Given the description of an element on the screen output the (x, y) to click on. 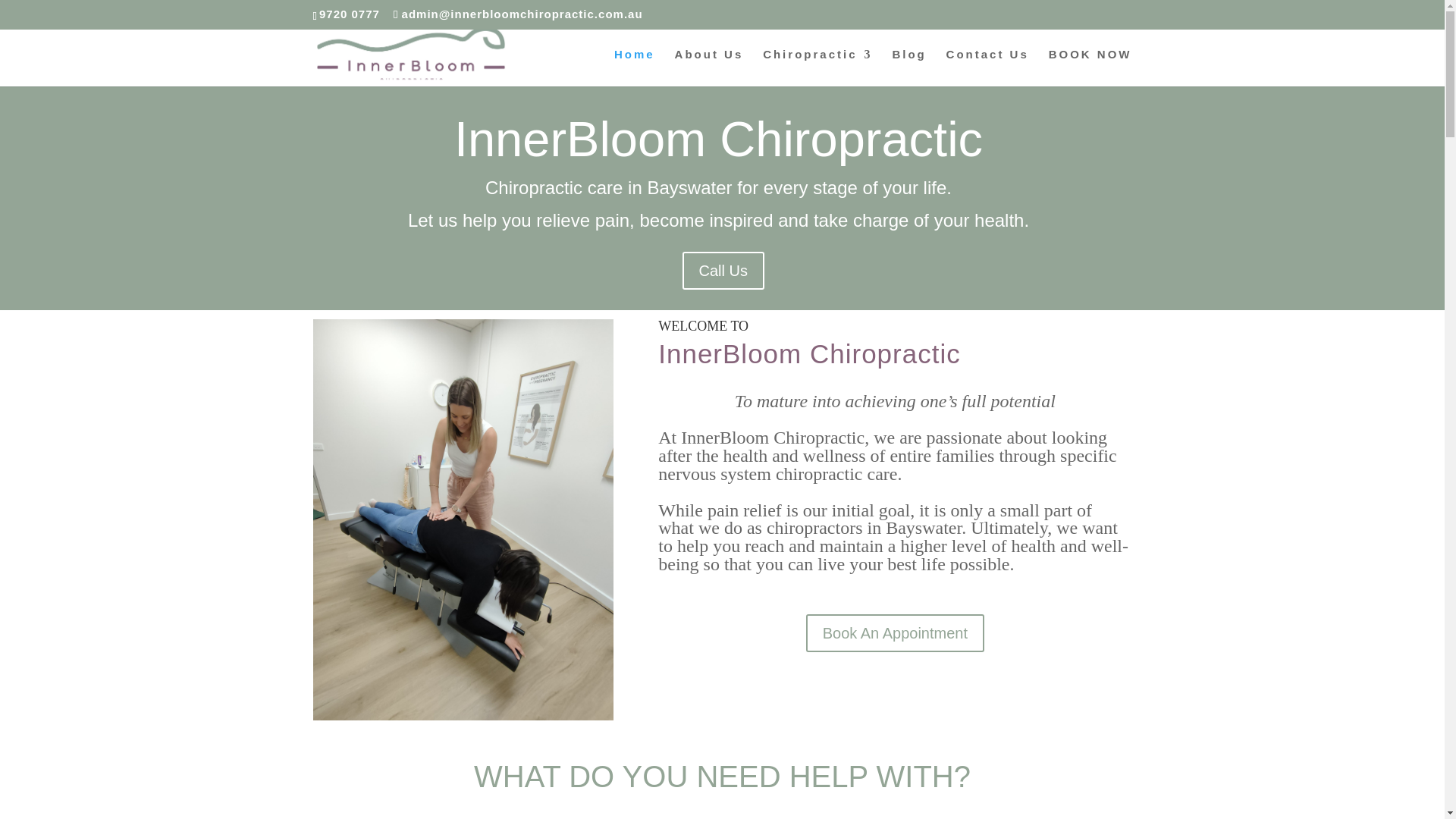
Book An Appointment (895, 632)
About Us (709, 67)
Blog (908, 67)
Contact Us (987, 67)
Call Us (723, 270)
BOOK NOW (1090, 67)
Home (634, 67)
Chiropractic (817, 67)
9720 0777 (349, 13)
